Given the description of an element on the screen output the (x, y) to click on. 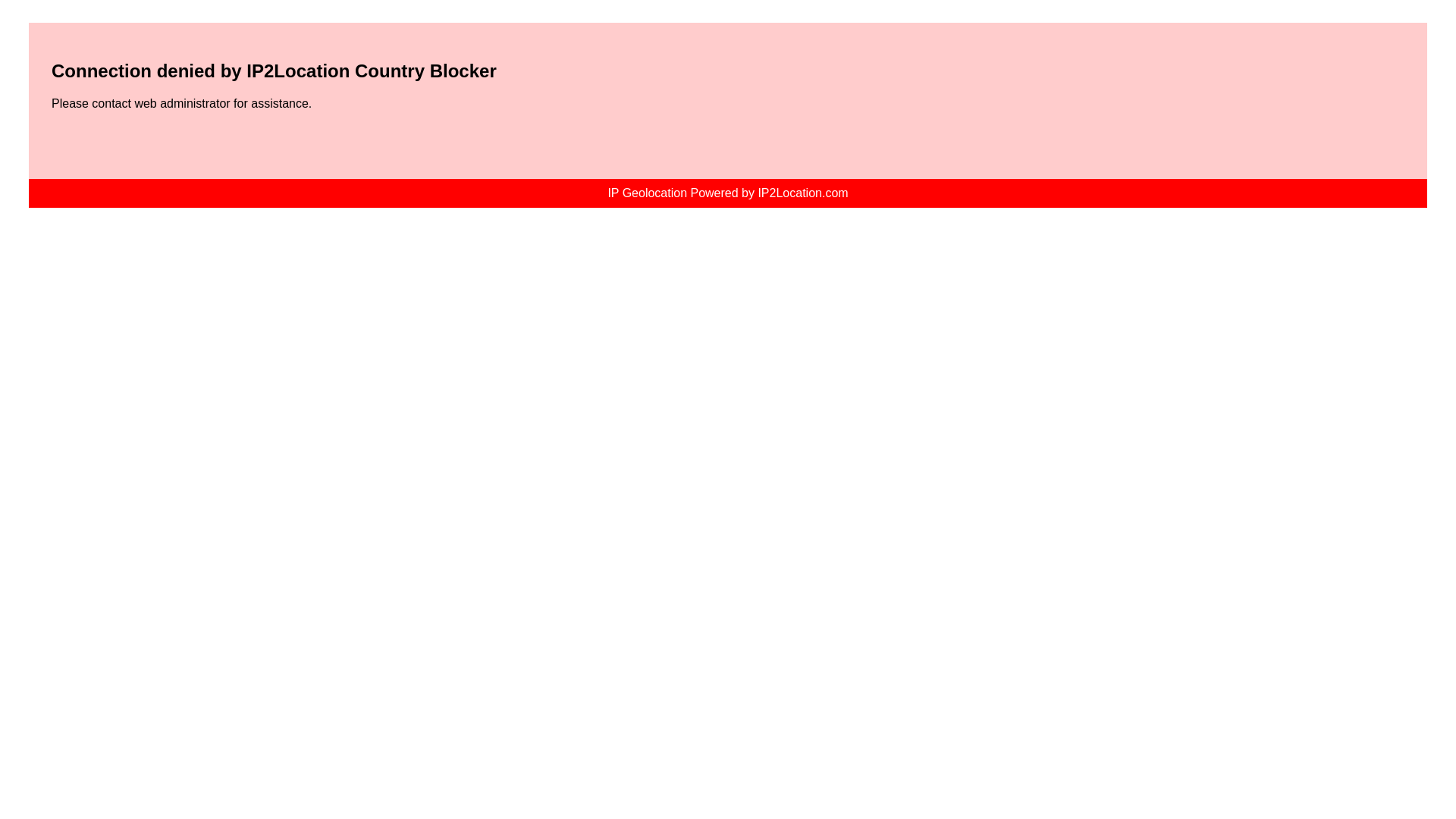
IP Geolocation Powered by IP2Location.com (727, 192)
